Given the description of an element on the screen output the (x, y) to click on. 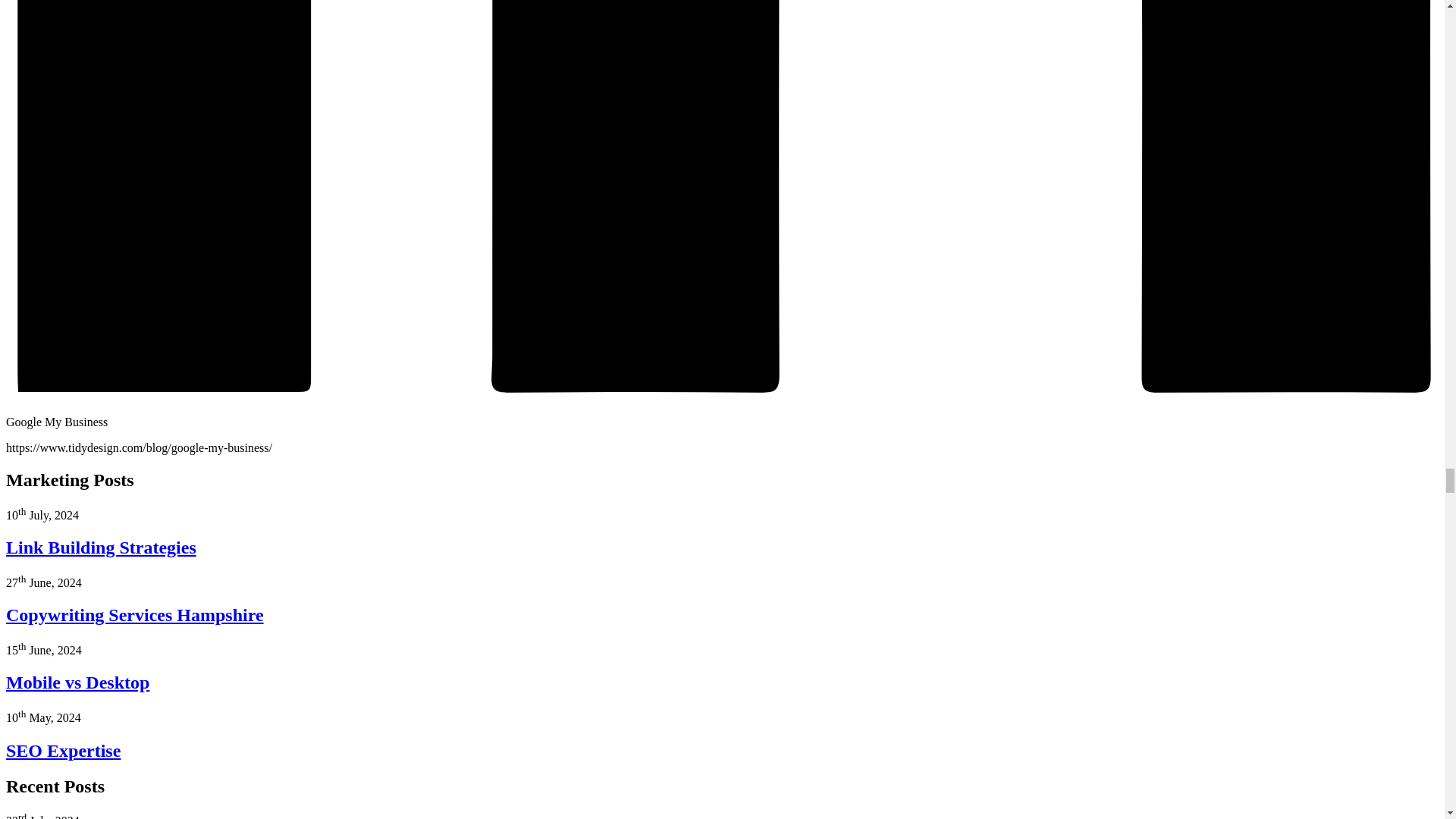
Link Building Strategies (100, 547)
Copywriting Services Hampshire (134, 614)
Mobile vs Desktop (77, 682)
SEO Expertise (62, 750)
